Given the description of an element on the screen output the (x, y) to click on. 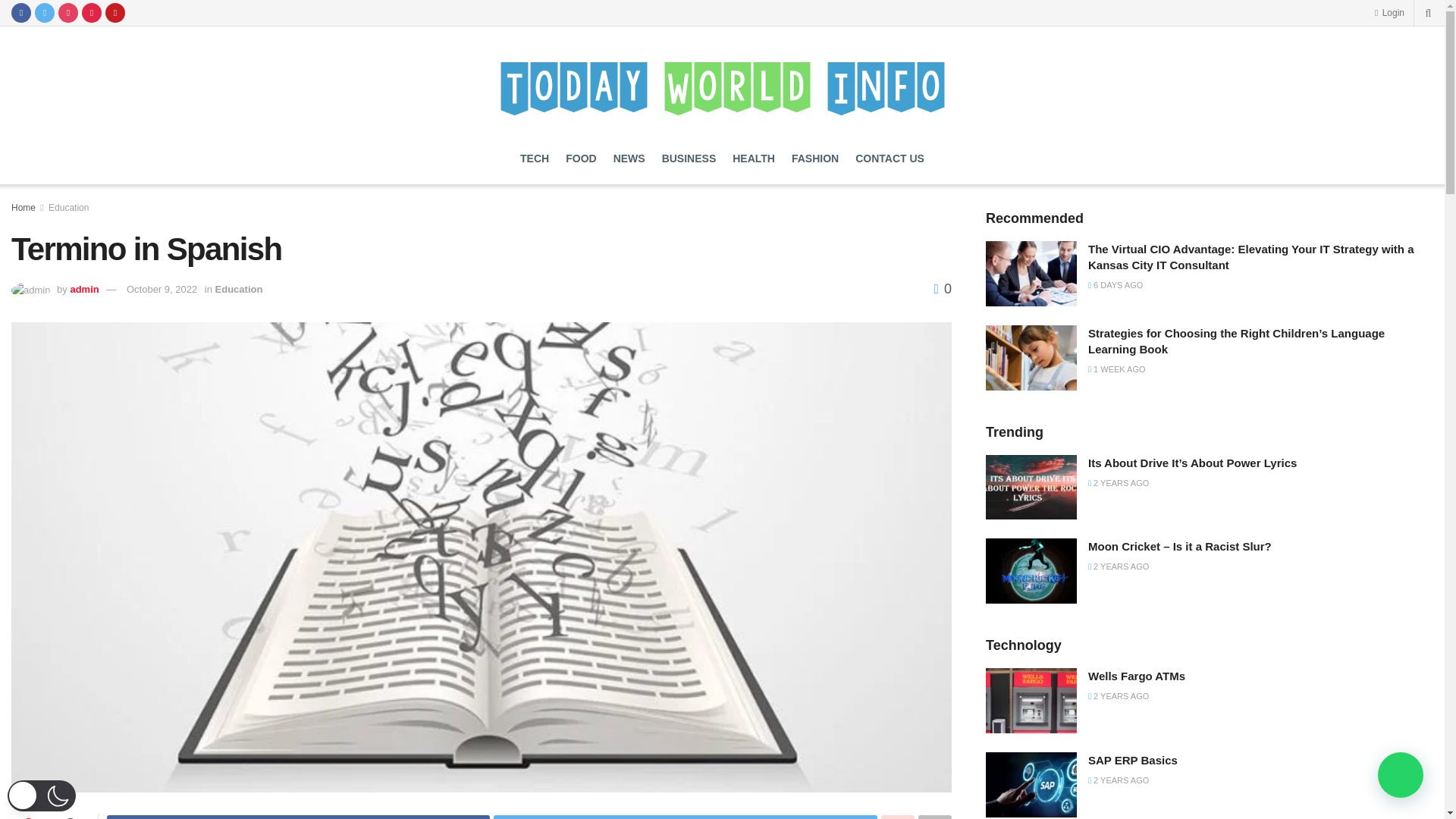
admin (84, 288)
0 (942, 288)
Login (1389, 12)
BUSINESS (689, 158)
CONTACT US (890, 158)
Education (239, 288)
October 9, 2022 (161, 288)
FASHION (815, 158)
Home (22, 207)
Education (68, 207)
